Given the description of an element on the screen output the (x, y) to click on. 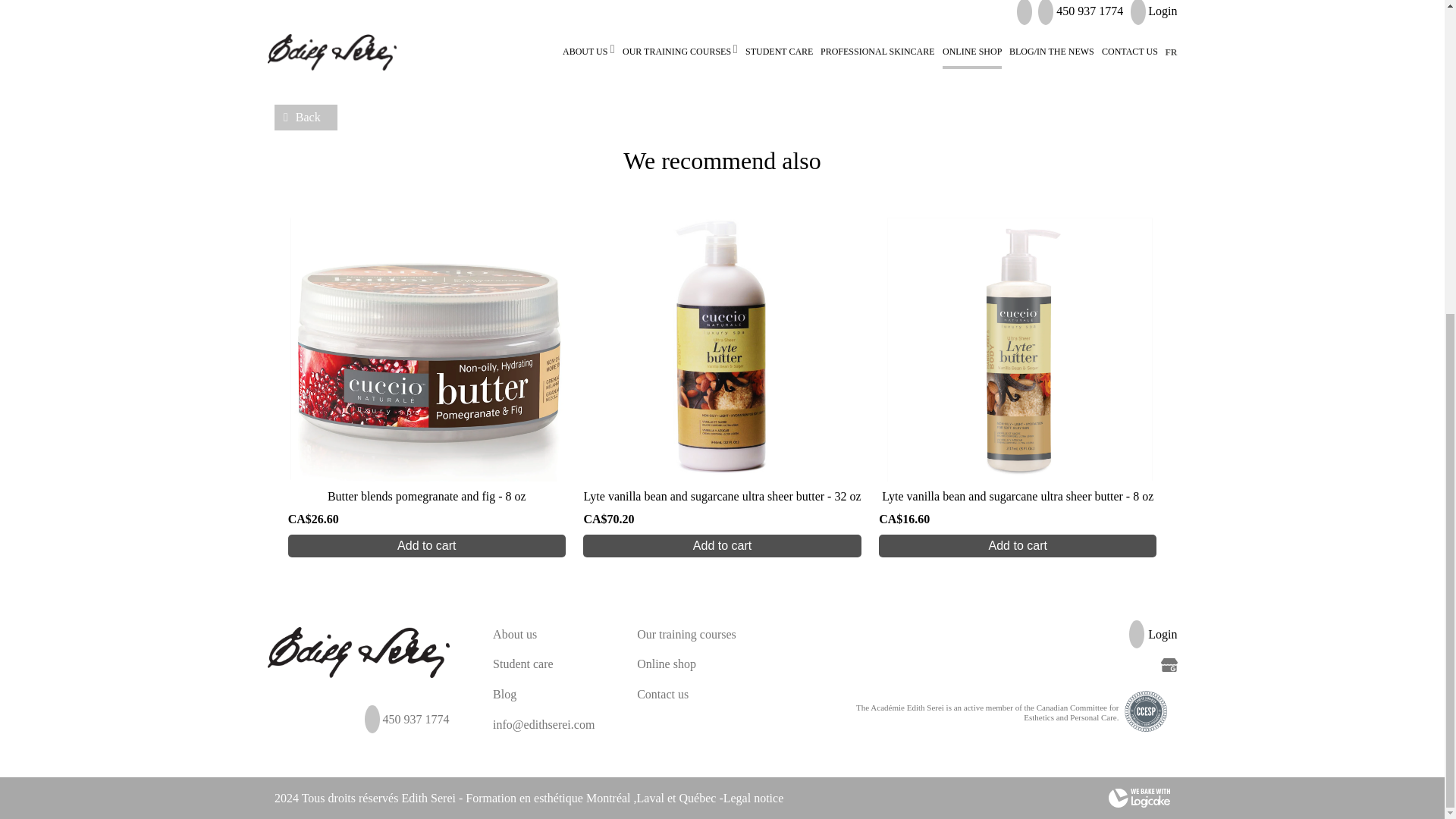
450 937 1774 (414, 718)
Back (306, 117)
Add to cart (427, 545)
Our training courses (686, 634)
Add to cart (721, 545)
About us (515, 634)
Add to cart (1017, 545)
